Given the description of an element on the screen output the (x, y) to click on. 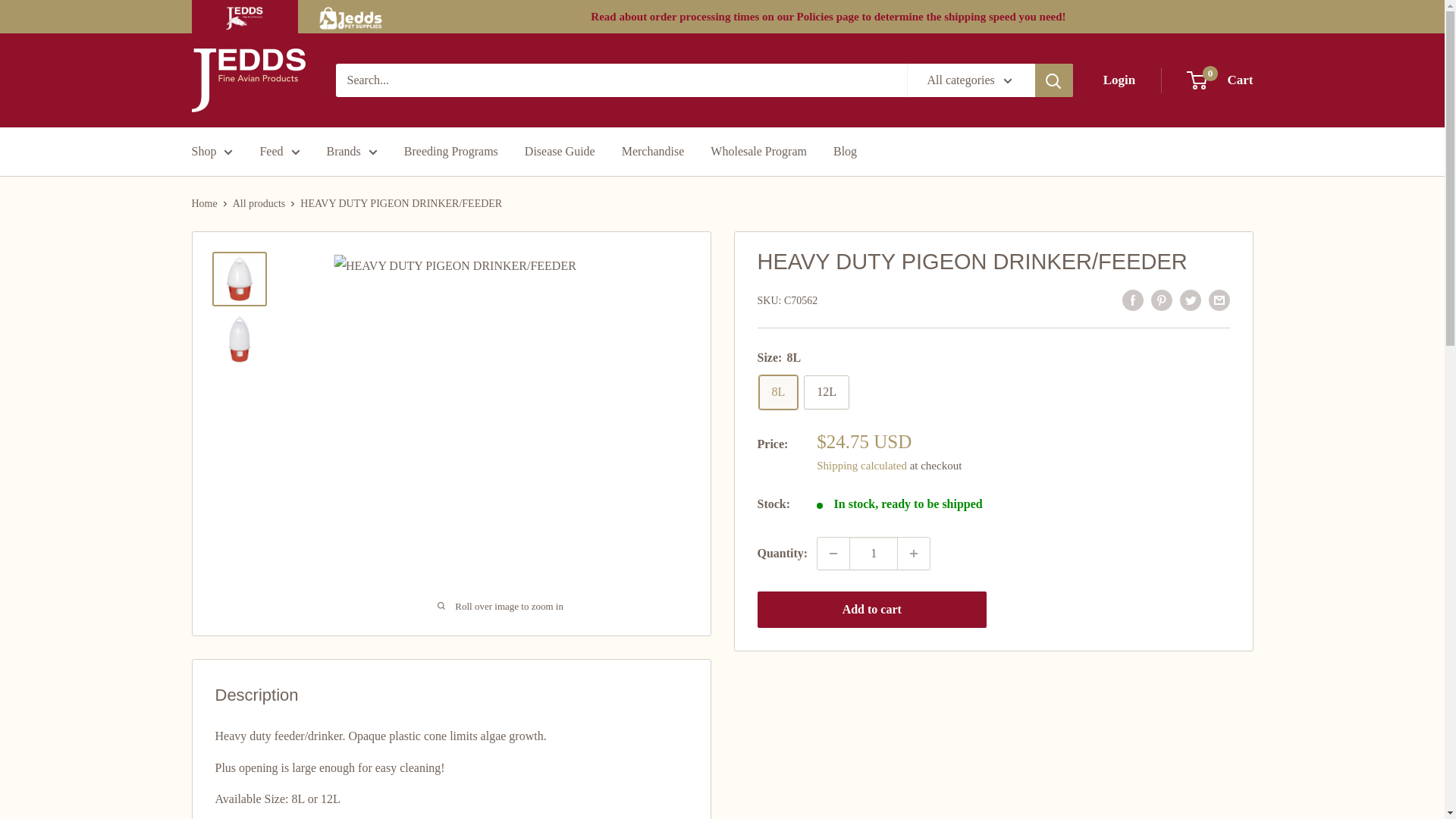
1 (873, 553)
8L (777, 392)
Login (1220, 79)
12L (1119, 79)
Jedds Bird Supplies (825, 392)
Increase quantity by 1 (247, 80)
Decrease quantity by 1 (914, 553)
